Given the description of an element on the screen output the (x, y) to click on. 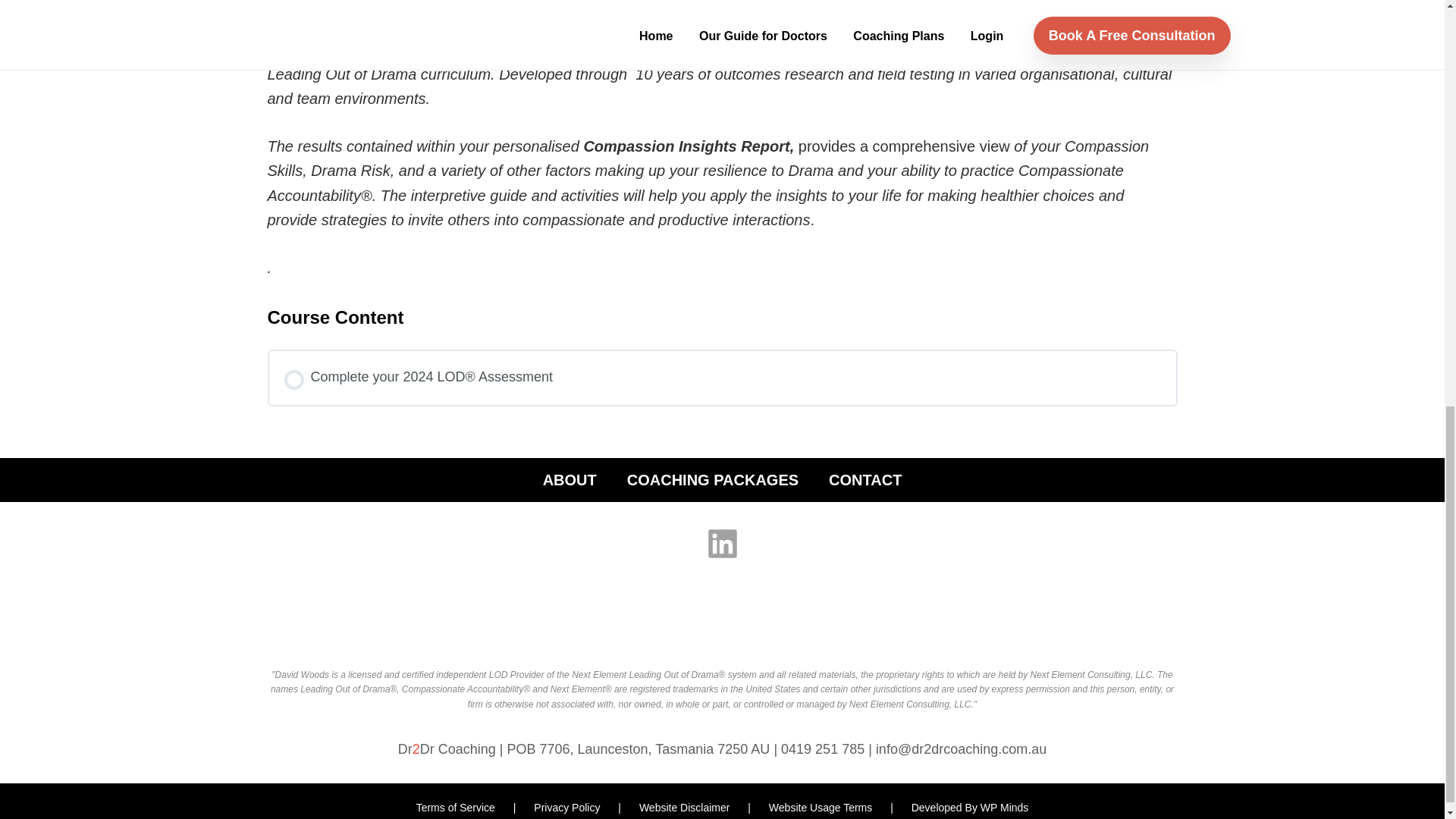
Website Usage Terms (820, 807)
ABOUT (569, 480)
LINKEDIN (722, 543)
COACHING PACKAGES (712, 480)
Developed By WP Minds (970, 807)
Dr2Dr Coaching (446, 749)
Terms of Service (456, 807)
0419 251 785 (823, 749)
POB 7706, Launceston, Tasmania 7250 AU (639, 749)
CONTACT (864, 480)
Website Disclaimer (685, 807)
Privacy Policy (568, 807)
